Given the description of an element on the screen output the (x, y) to click on. 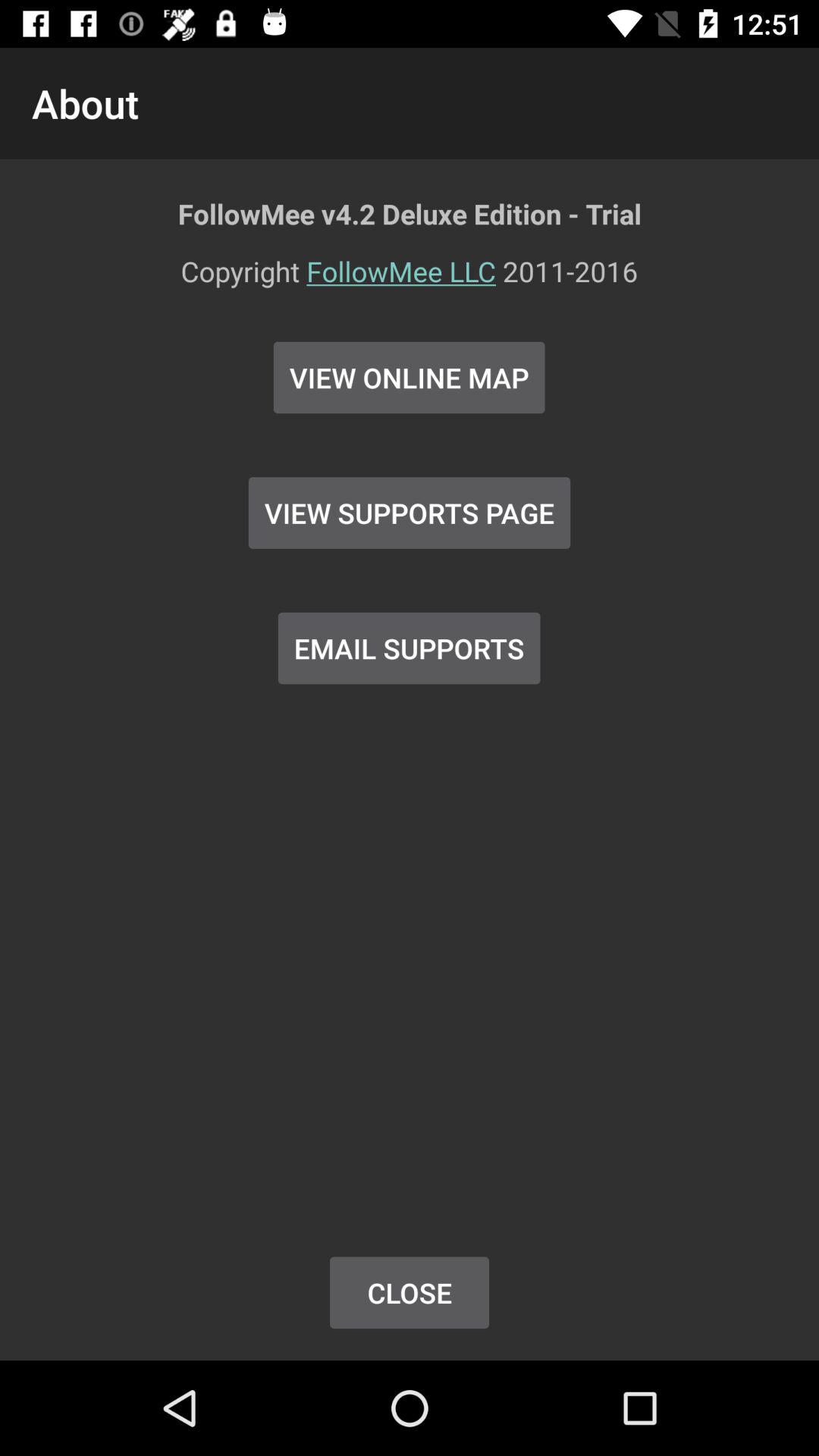
tap item above email supports item (409, 512)
